Given the description of an element on the screen output the (x, y) to click on. 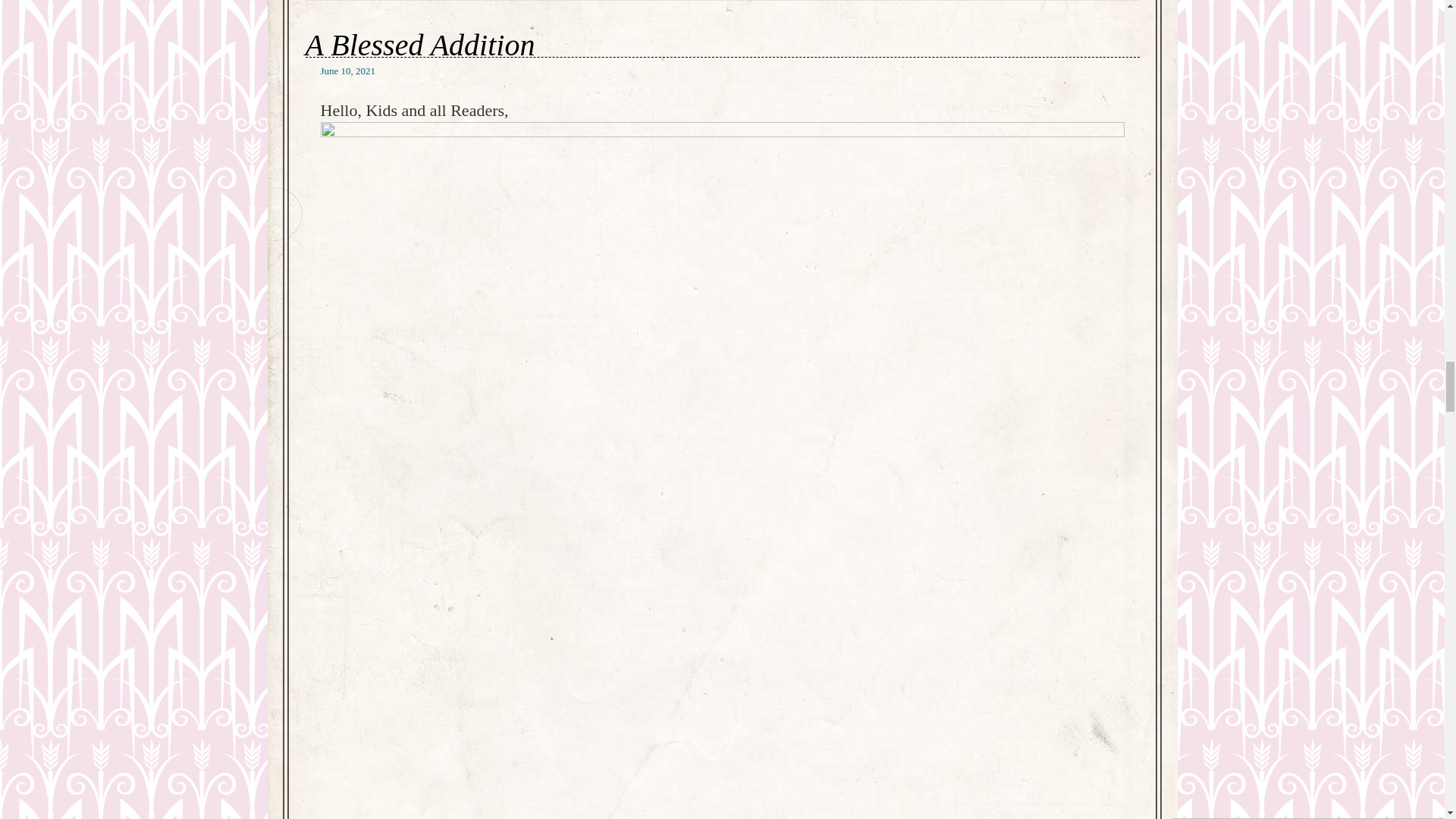
A Blessed Addition (419, 45)
3:00 am (347, 70)
June 10, 2021 (347, 70)
A Blessed Addition (419, 45)
